Given the description of an element on the screen output the (x, y) to click on. 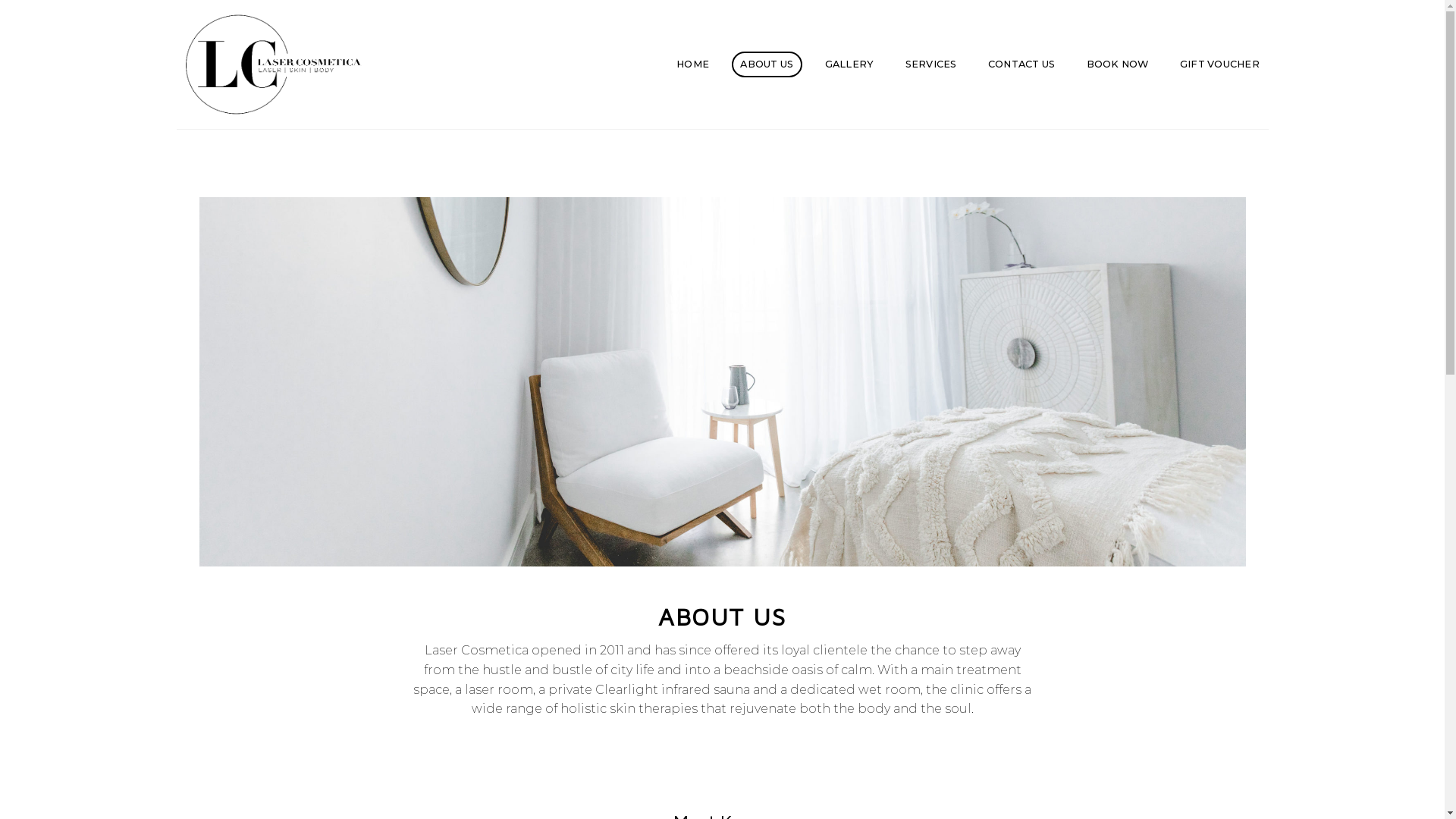
Laser Cosmetica - One stop medical spa for all your needs Element type: hover (288, 64)
ABOUT US Element type: text (766, 64)
GIFT VOUCHER Element type: text (1218, 64)
BOOK NOW Element type: text (1117, 64)
GALLERY Element type: text (848, 64)
CONTACT US Element type: text (1021, 64)
HOME Element type: text (693, 64)
Skip to content Element type: text (0, 0)
SERVICES Element type: text (930, 64)
